Given the description of an element on the screen output the (x, y) to click on. 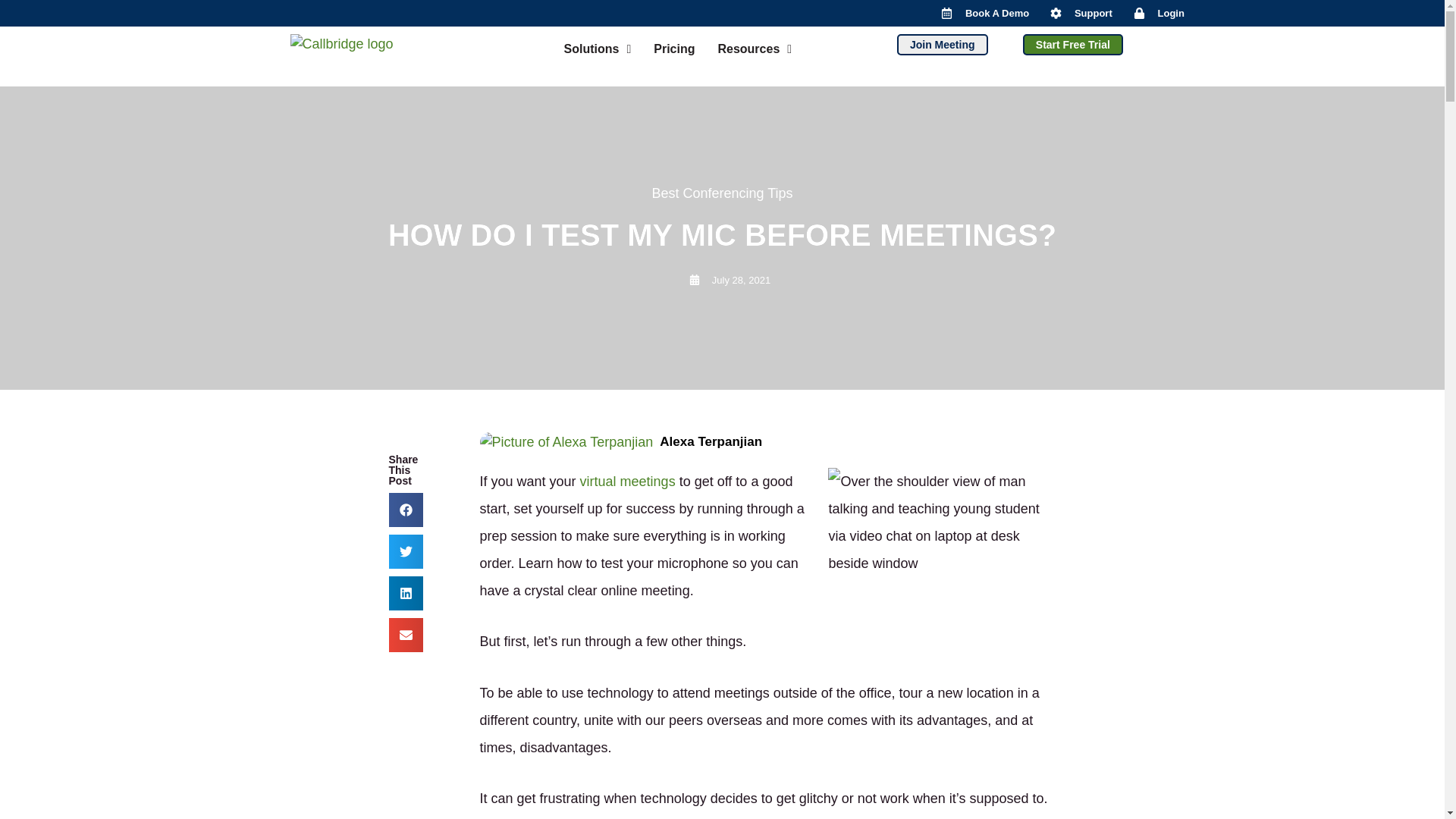
Resources (754, 48)
Pricing (674, 48)
Login (1159, 12)
Support (1080, 12)
Solutions (596, 48)
Book A Demo (984, 12)
